Given the description of an element on the screen output the (x, y) to click on. 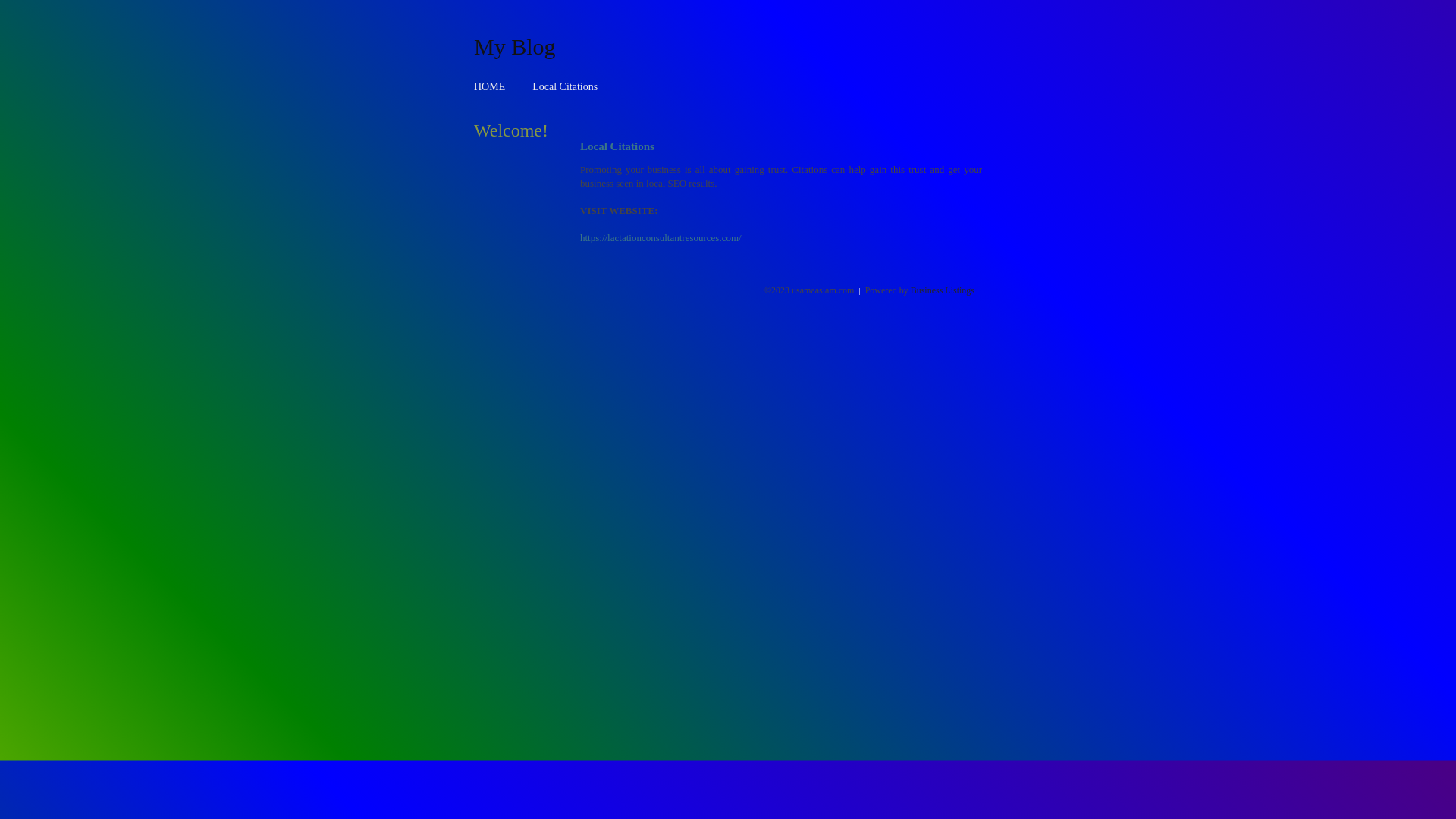
https://lactationconsultantresources.com/ Element type: text (660, 237)
Business Listings Element type: text (942, 290)
My Blog Element type: text (514, 46)
Local Citations Element type: text (564, 86)
HOME Element type: text (489, 86)
